Given the description of an element on the screen output the (x, y) to click on. 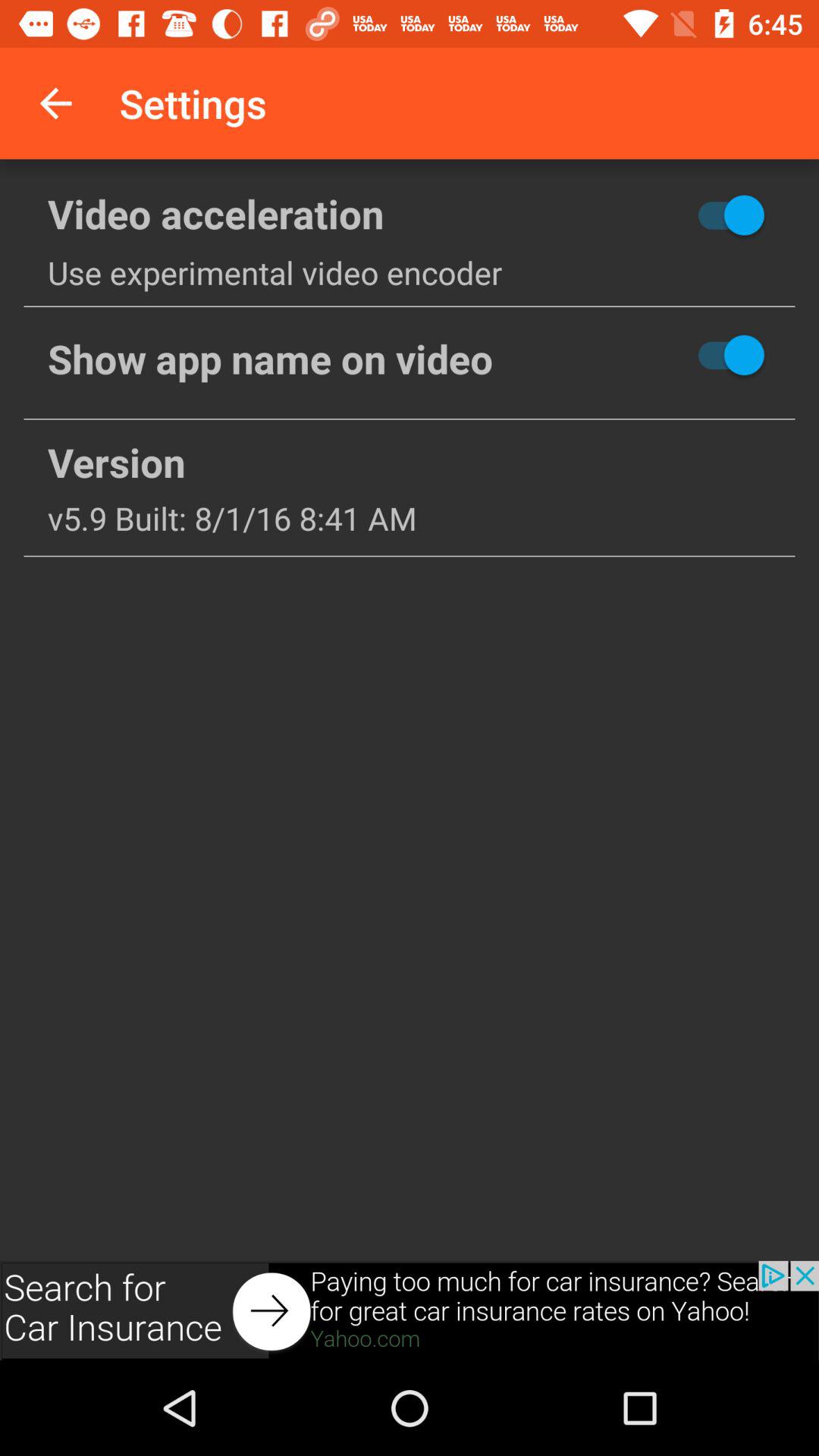
notification in on (675, 354)
